Given the description of an element on the screen output the (x, y) to click on. 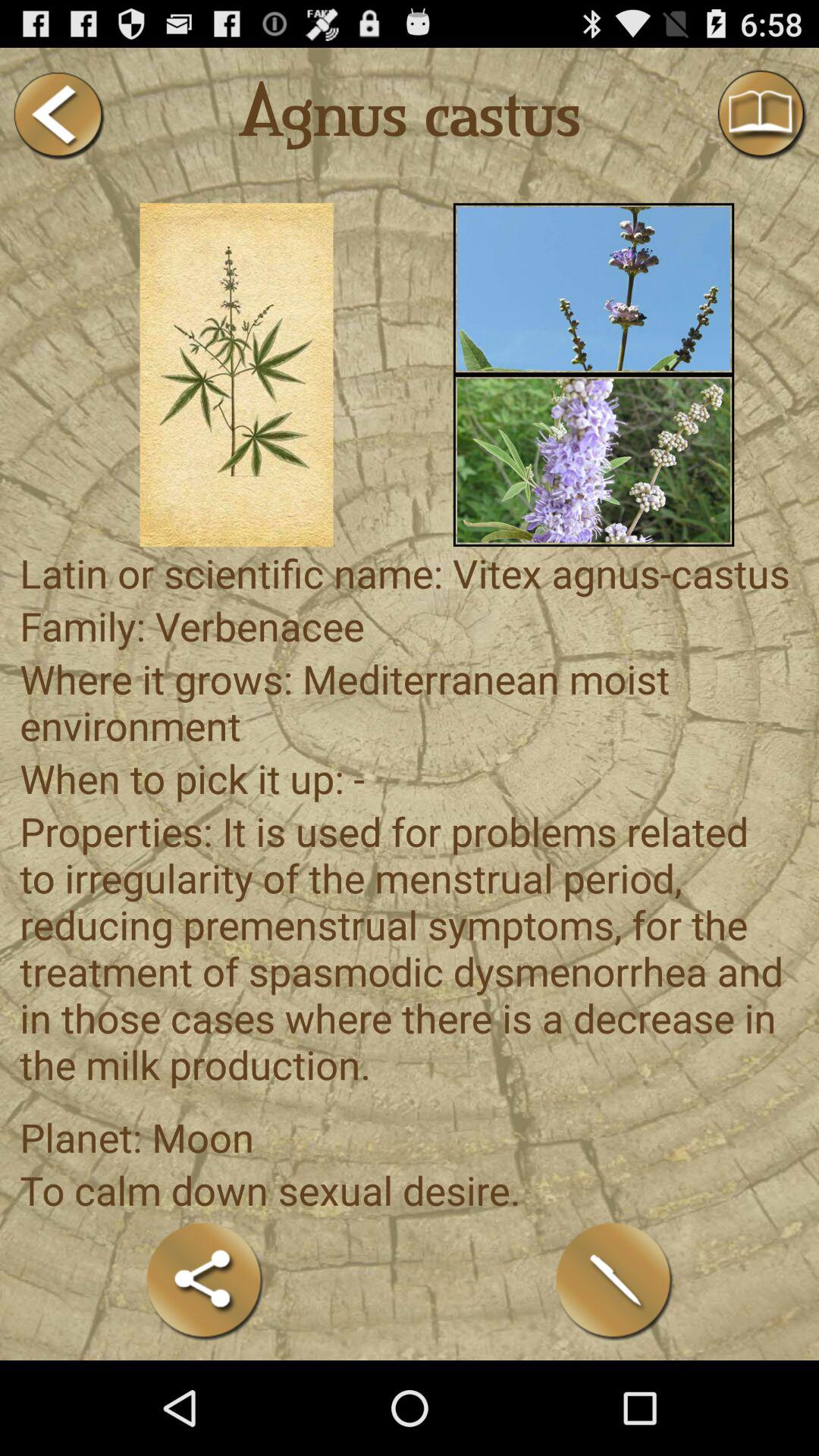
go back a page (57, 115)
